Given the description of an element on the screen output the (x, y) to click on. 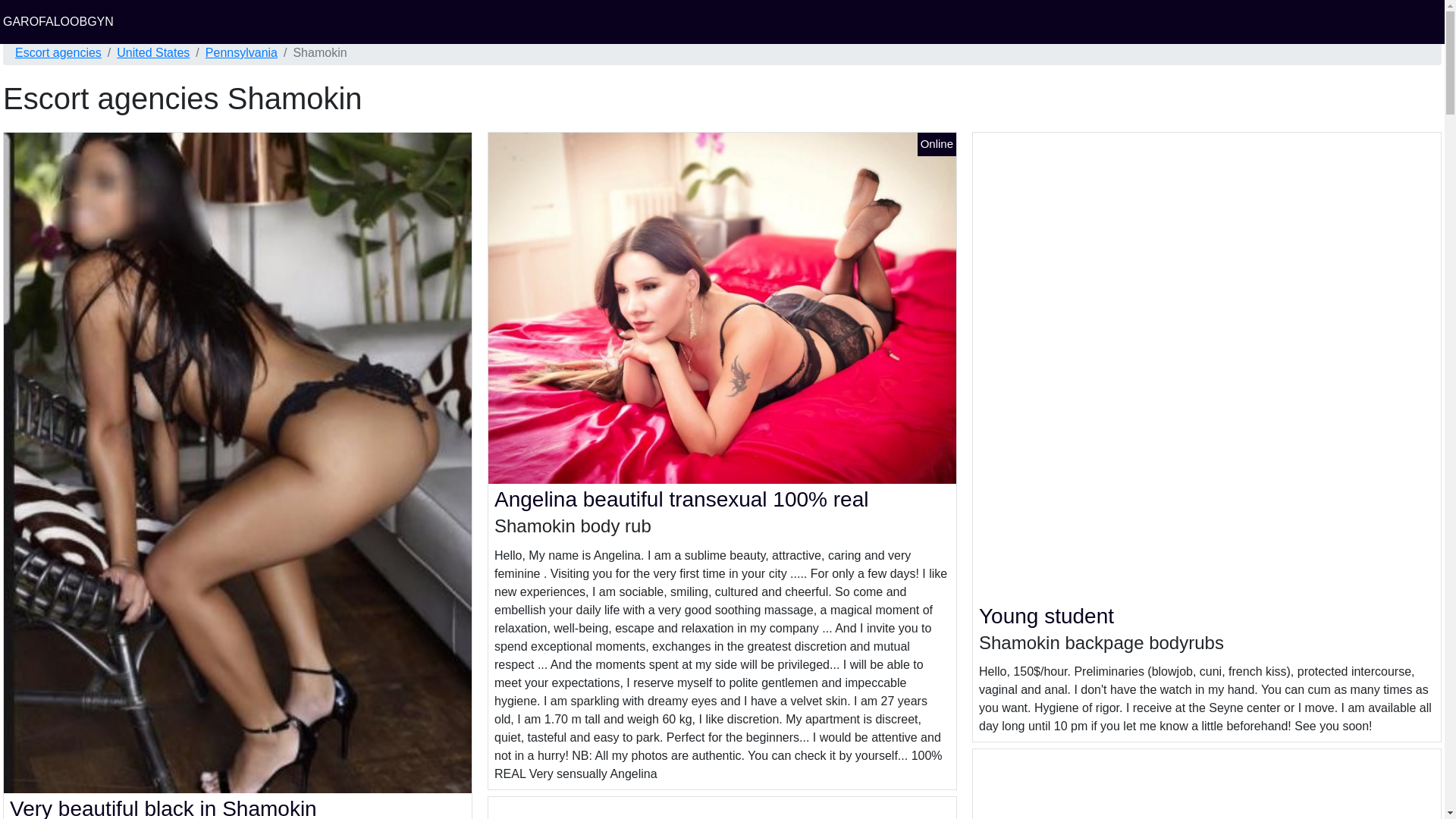
Pennsylvania (241, 53)
GAROFALOOBGYN (57, 21)
United States (152, 53)
Very beautiful black in Shamokin (163, 807)
Escort agencies (57, 53)
Young student (1045, 616)
